Given the description of an element on the screen output the (x, y) to click on. 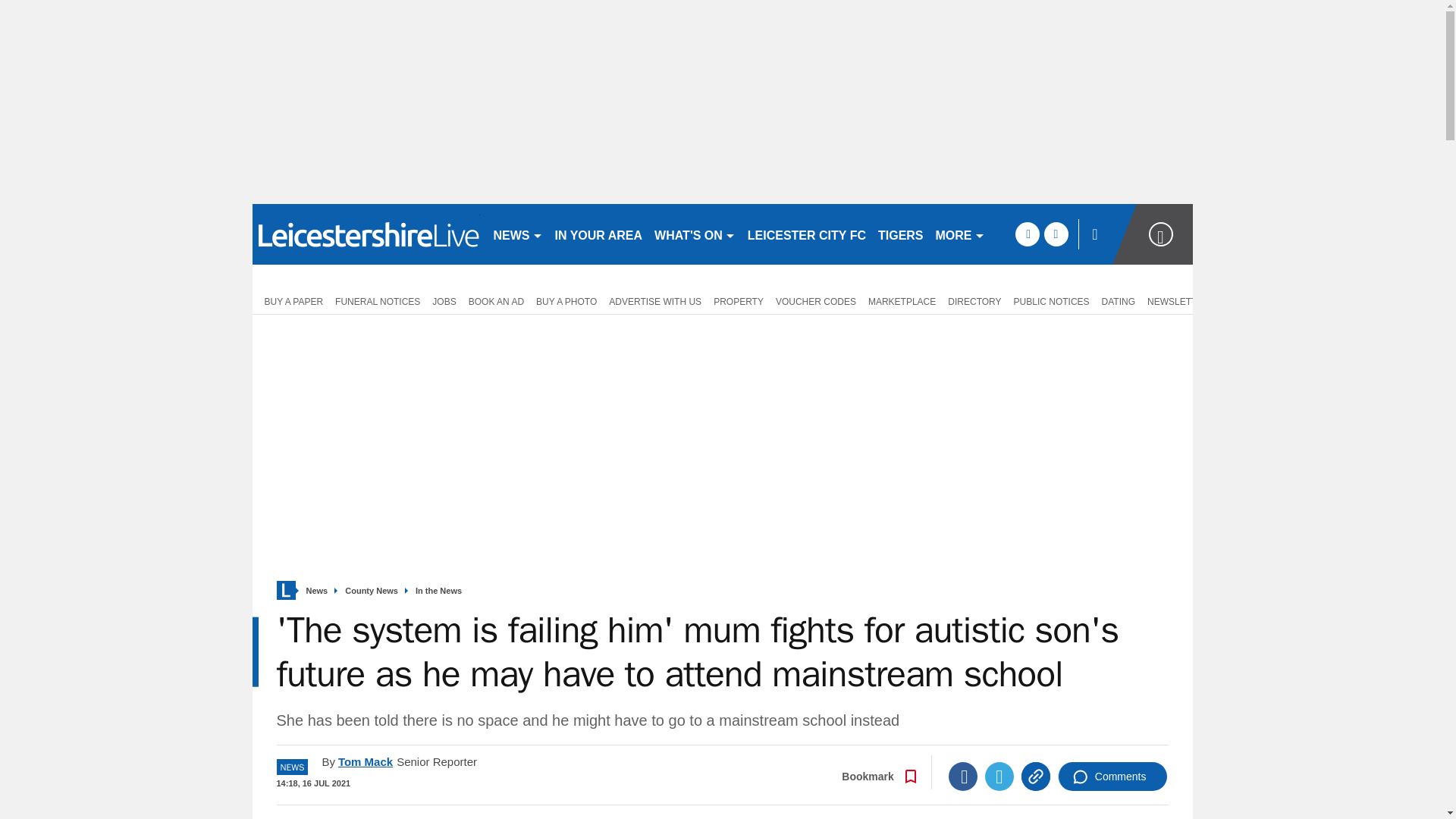
Comments (1112, 776)
TIGERS (901, 233)
Facebook (962, 776)
facebook (1026, 233)
NEWS (517, 233)
leicestermercury (365, 233)
twitter (1055, 233)
LEICESTER CITY FC (806, 233)
WHAT'S ON (694, 233)
IN YOUR AREA (598, 233)
